Given the description of an element on the screen output the (x, y) to click on. 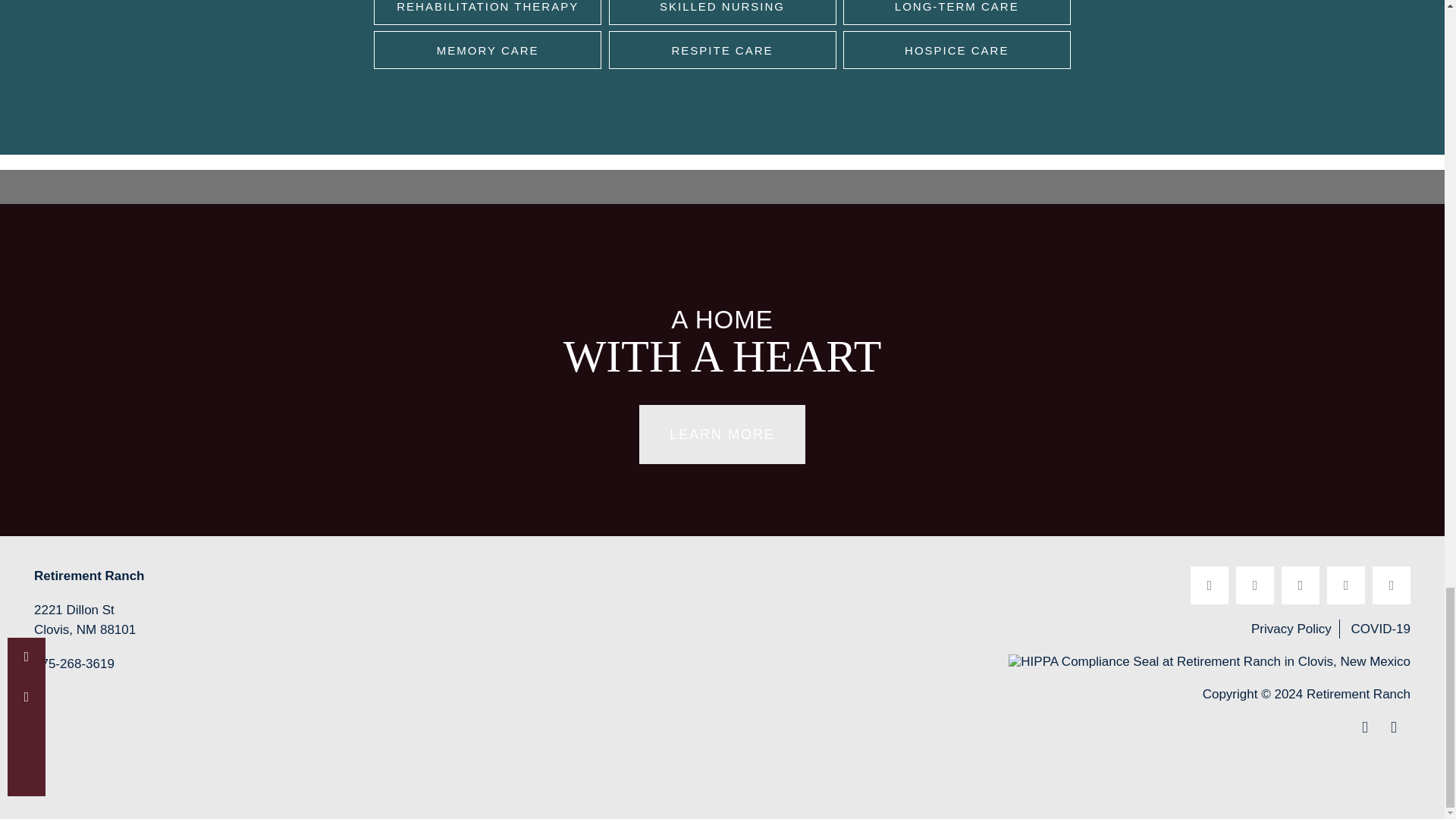
SKILLED NURSING (721, 12)
Yelp (1255, 585)
REHABILITATION THERAPY (487, 12)
LinkedIn (1300, 585)
MEMORY CARE (487, 49)
Facebook (1209, 585)
Instagram (1345, 585)
Google My Business (1391, 585)
Property Phone Number (74, 665)
LONG-TERM CARE (956, 12)
